Given the description of an element on the screen output the (x, y) to click on. 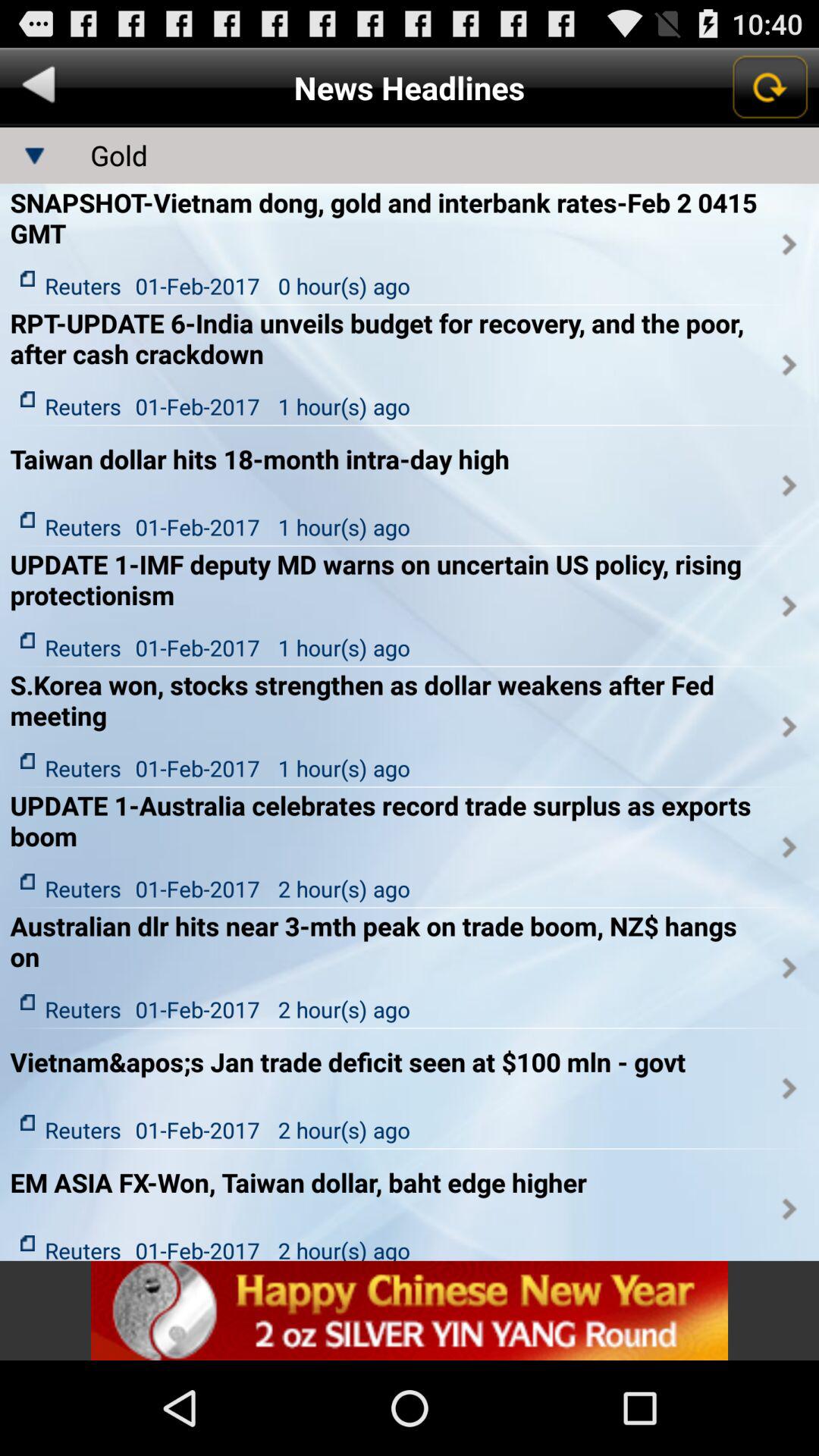
refresh (769, 87)
